Given the description of an element on the screen output the (x, y) to click on. 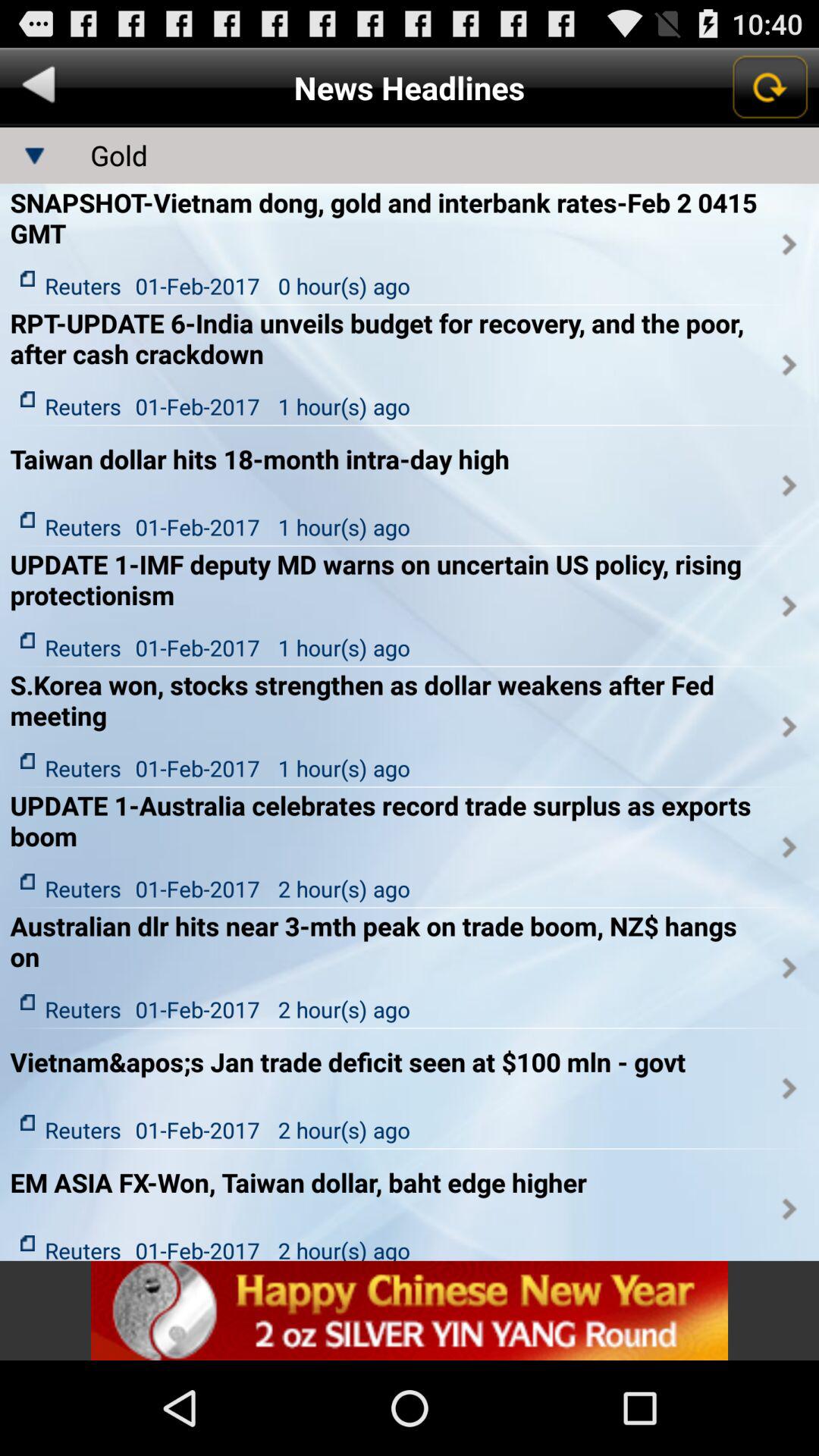
refresh (769, 87)
